Given the description of an element on the screen output the (x, y) to click on. 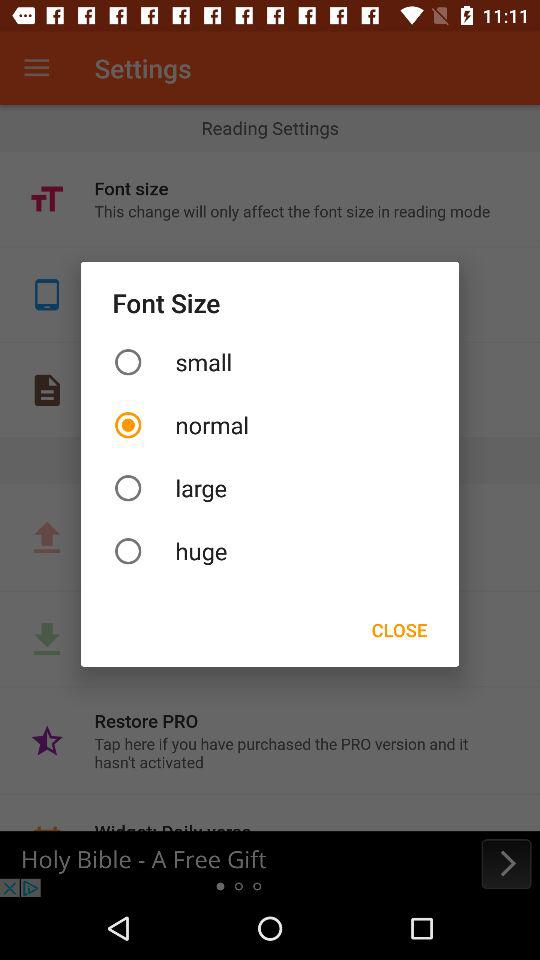
tap item above huge item (270, 487)
